Given the description of an element on the screen output the (x, y) to click on. 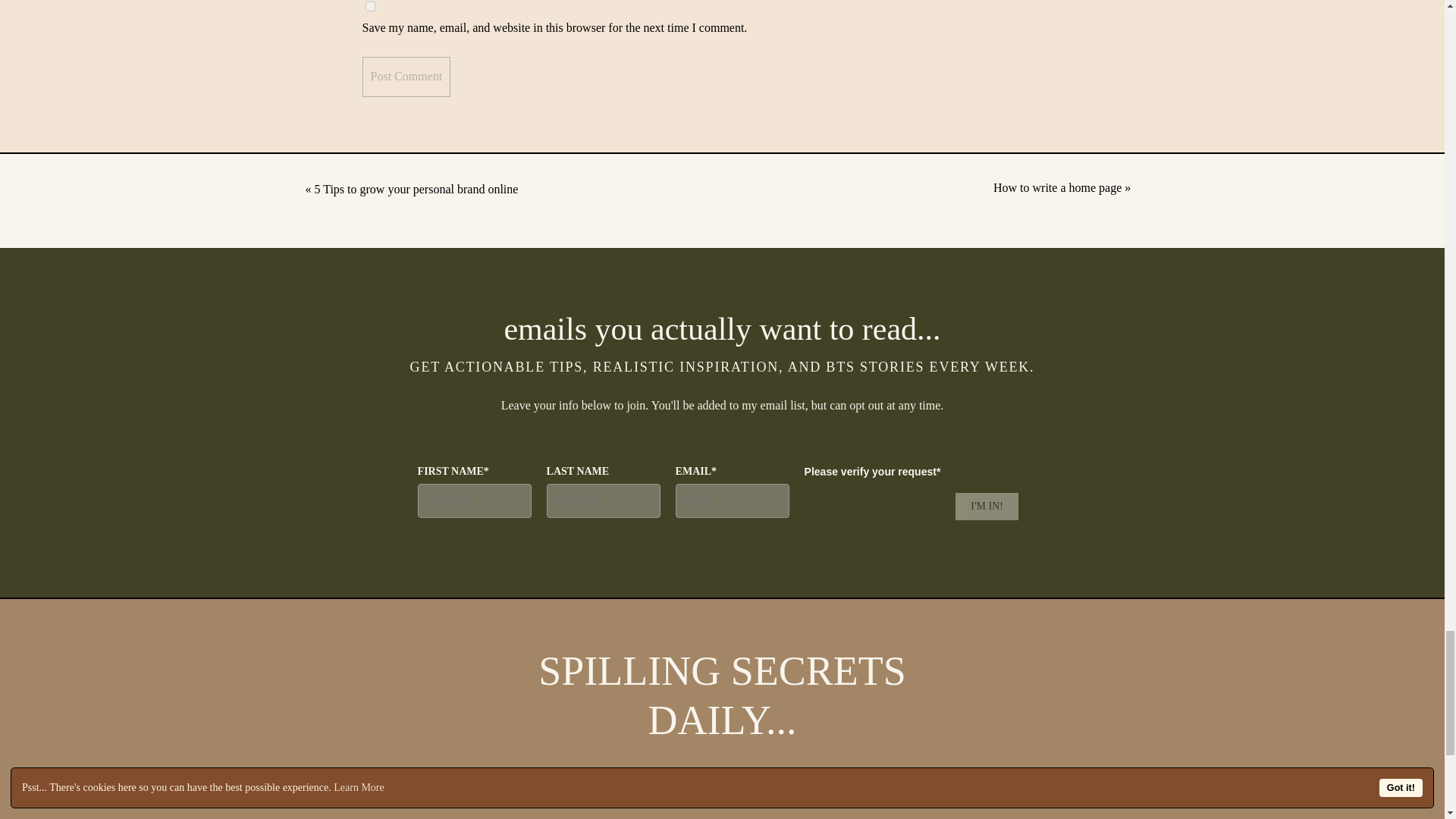
Post Comment (406, 76)
yes (370, 6)
5 Tips to grow your personal brand online (416, 188)
How to write a home page (1056, 187)
I'M IN! (986, 506)
Post Comment (406, 76)
